Given the description of an element on the screen output the (x, y) to click on. 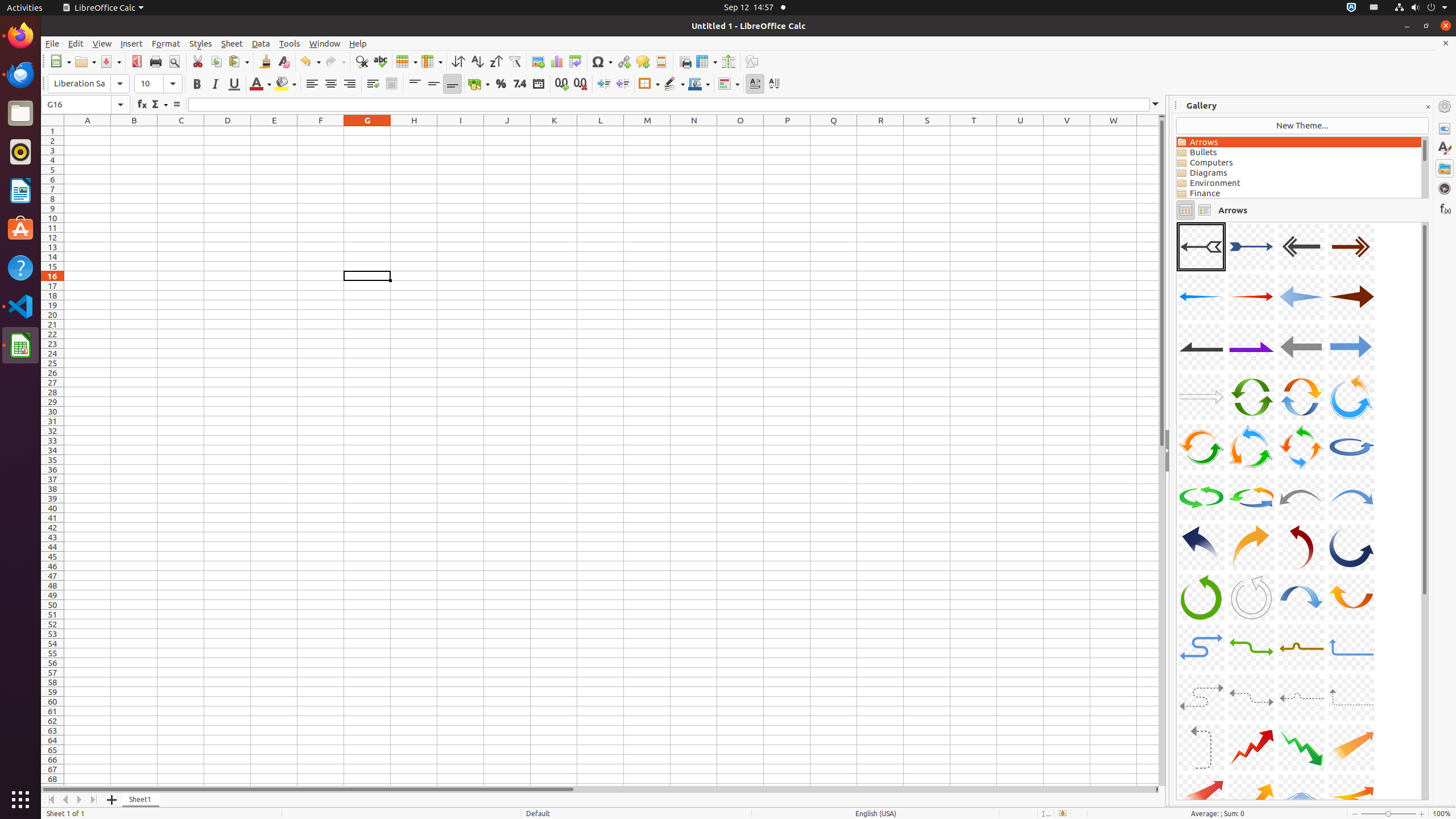
A26-CurvedArrow-Orange Element type: list-item (1250, 546)
A47-TrendArrow-LightBlue Element type: list-item (1176, 222)
Bold Element type: toggle-button (196, 83)
A37-CurvedArrow-Gray-TwoDirections Element type: list-item (1200, 696)
Bullets Element type: list-item (1298, 152)
